Given the description of an element on the screen output the (x, y) to click on. 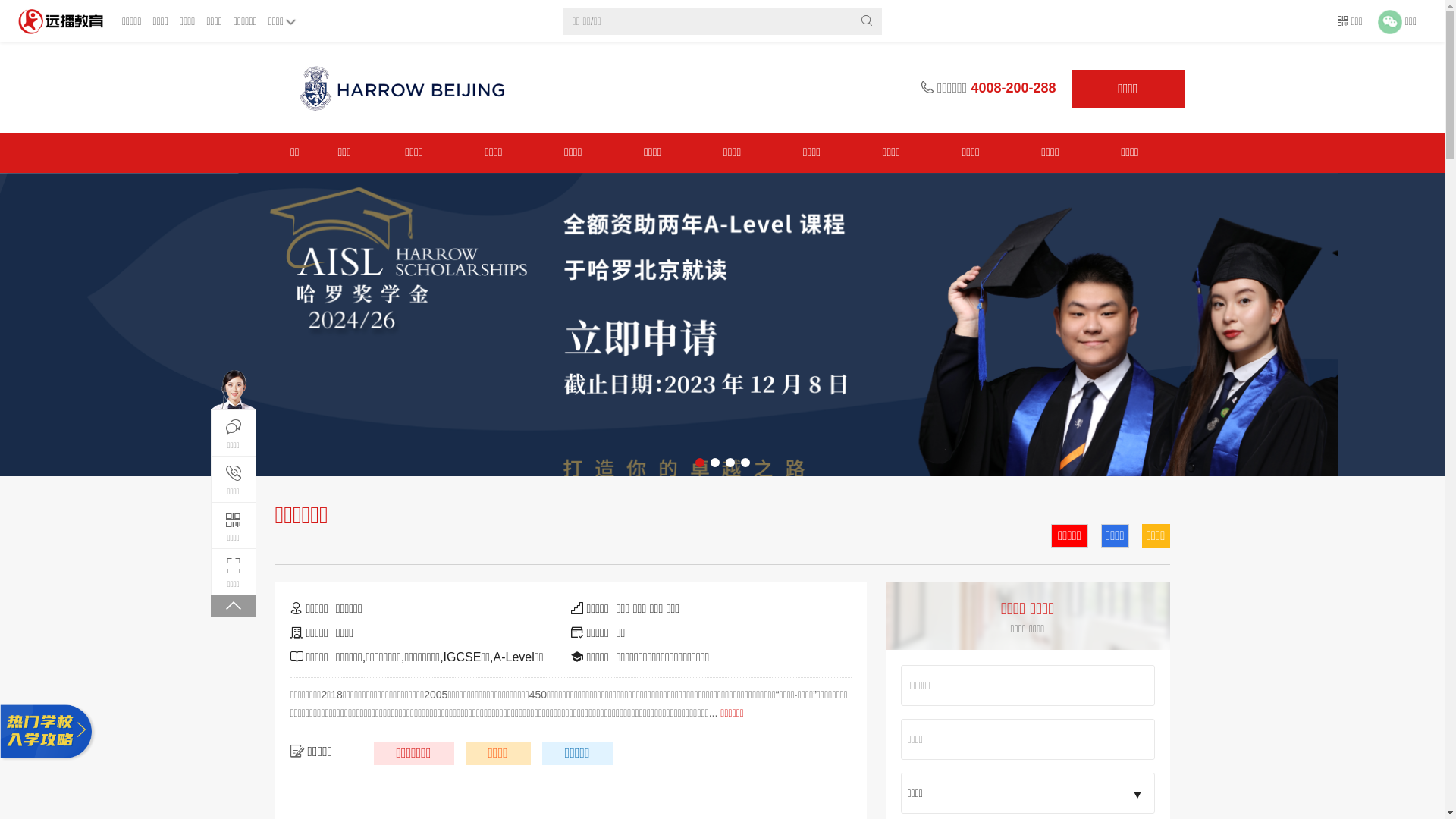
4008-200-288 Element type: text (1012, 87)
